Given the description of an element on the screen output the (x, y) to click on. 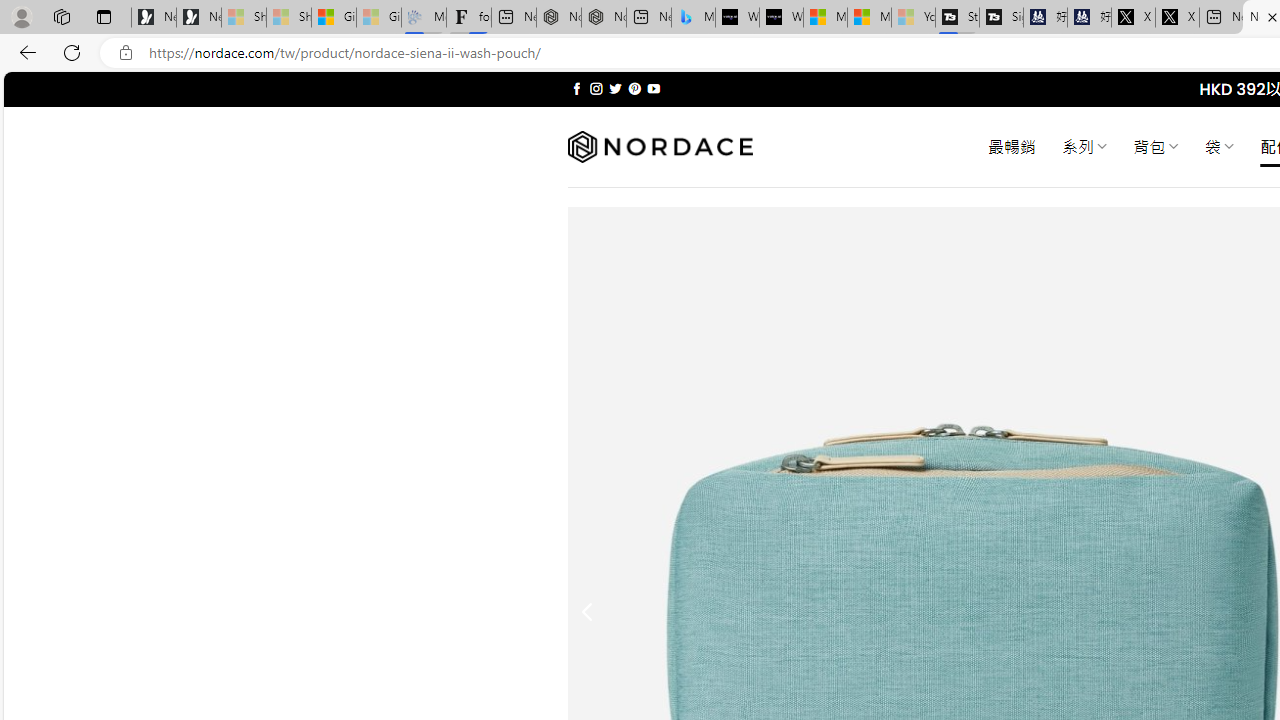
Follow on Pinterest (634, 88)
